Given the description of an element on the screen output the (x, y) to click on. 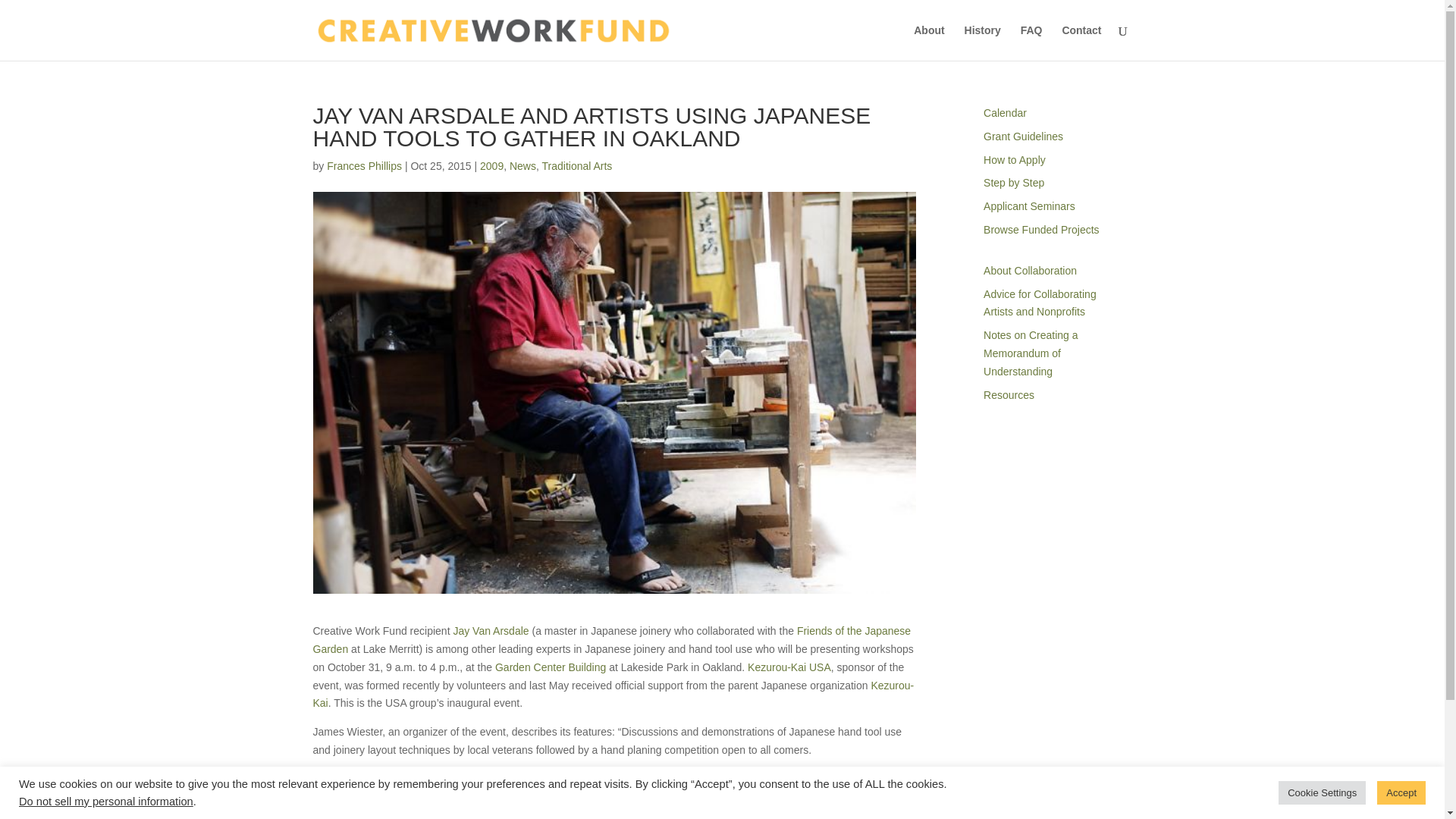
Accept (1401, 792)
Karl Bareis (819, 778)
2009 (491, 165)
Kezurou-Kai USA (789, 666)
How to Apply (1014, 159)
Do not sell my personal information (105, 801)
Resources (1008, 395)
Garden Center Building (550, 666)
Kezurou-Kai (613, 694)
Jay Van Arsdale (490, 630)
